Given the description of an element on the screen output the (x, y) to click on. 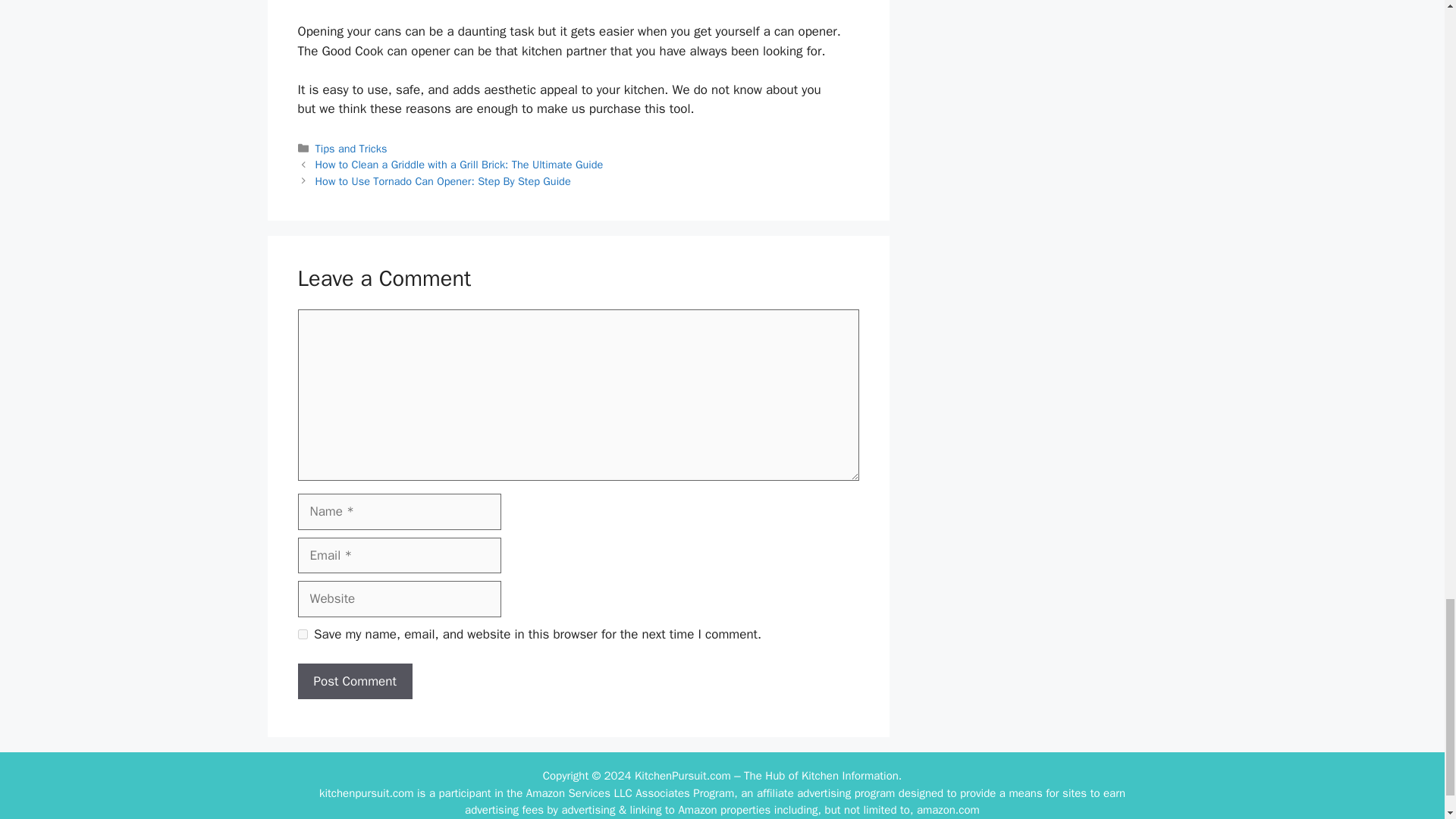
yes (302, 634)
Tips and Tricks (351, 148)
How to Use Tornado Can Opener: Step By Step Guide (442, 181)
Post Comment (354, 681)
Post Comment (354, 681)
